Given the description of an element on the screen output the (x, y) to click on. 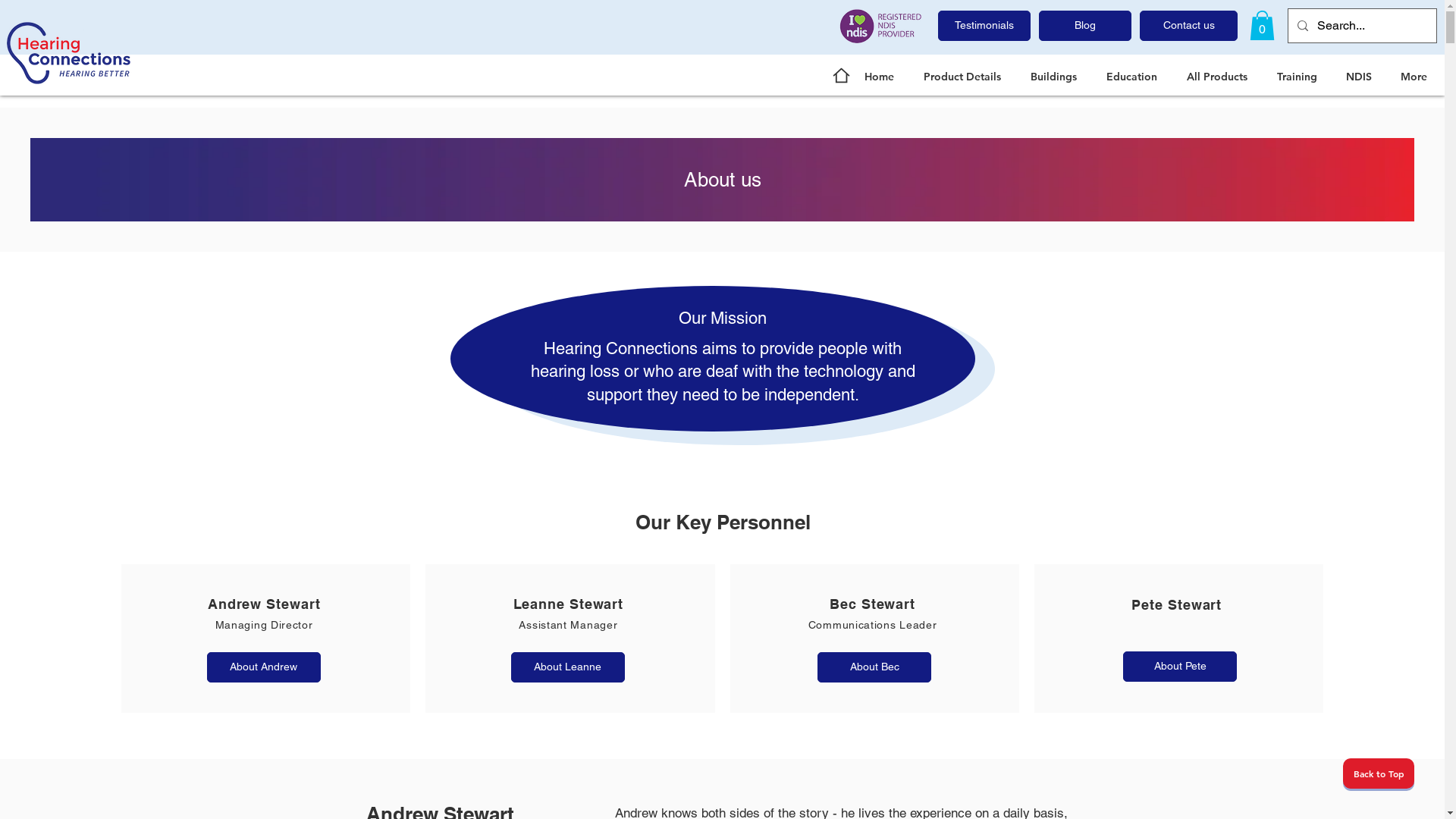
Home Element type: text (882, 76)
Testimonials Element type: text (984, 25)
About Bec Element type: text (874, 667)
About Leanne Element type: text (567, 667)
Contact us Element type: text (1188, 25)
0 Element type: text (1261, 25)
About Pete Element type: text (1179, 666)
All Products Element type: text (1220, 76)
Blog Element type: text (1084, 25)
About Andrew Element type: text (263, 667)
Back to Top Element type: text (1378, 773)
